Given the description of an element on the screen output the (x, y) to click on. 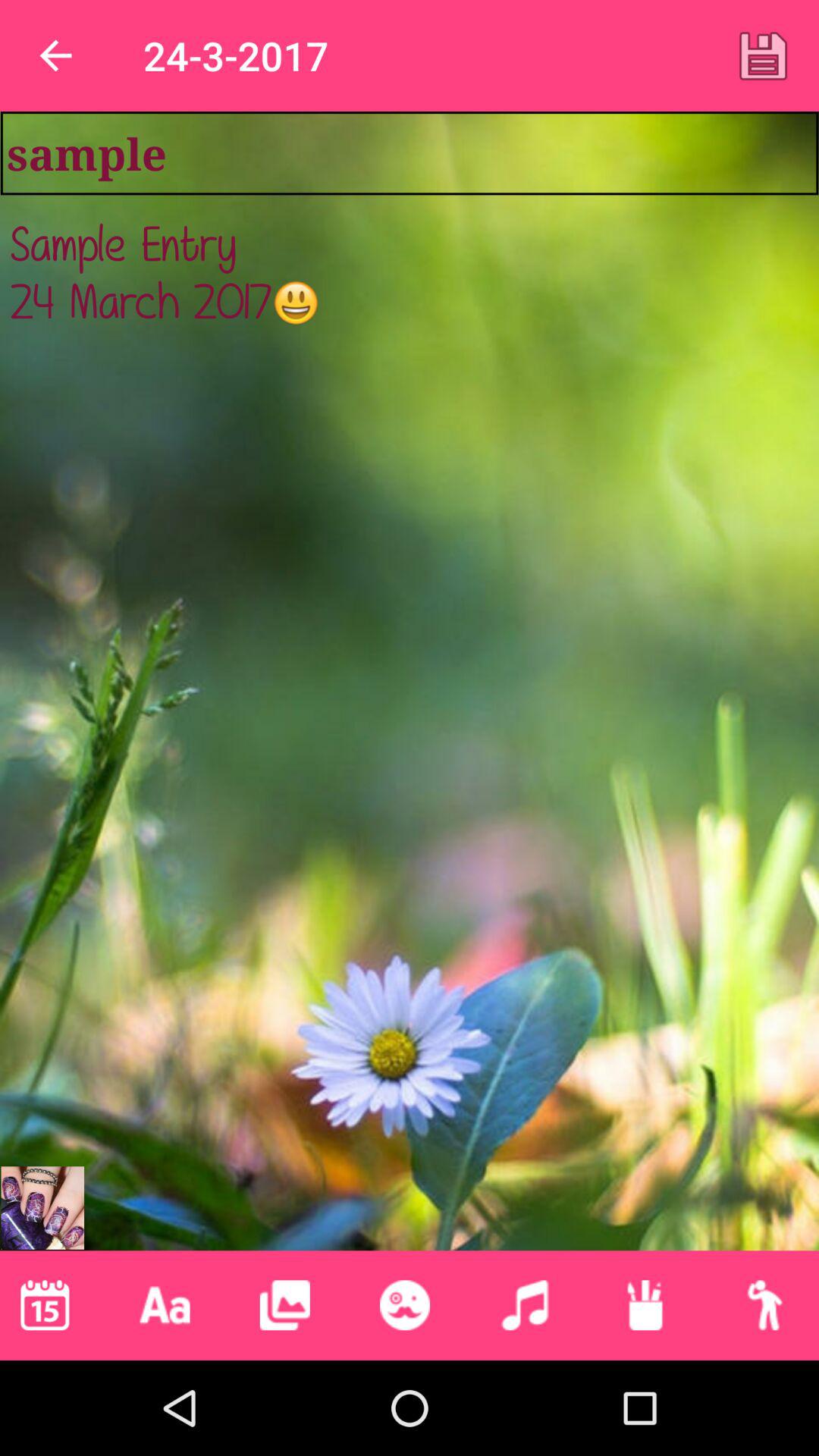
open image (42, 1207)
